Given the description of an element on the screen output the (x, y) to click on. 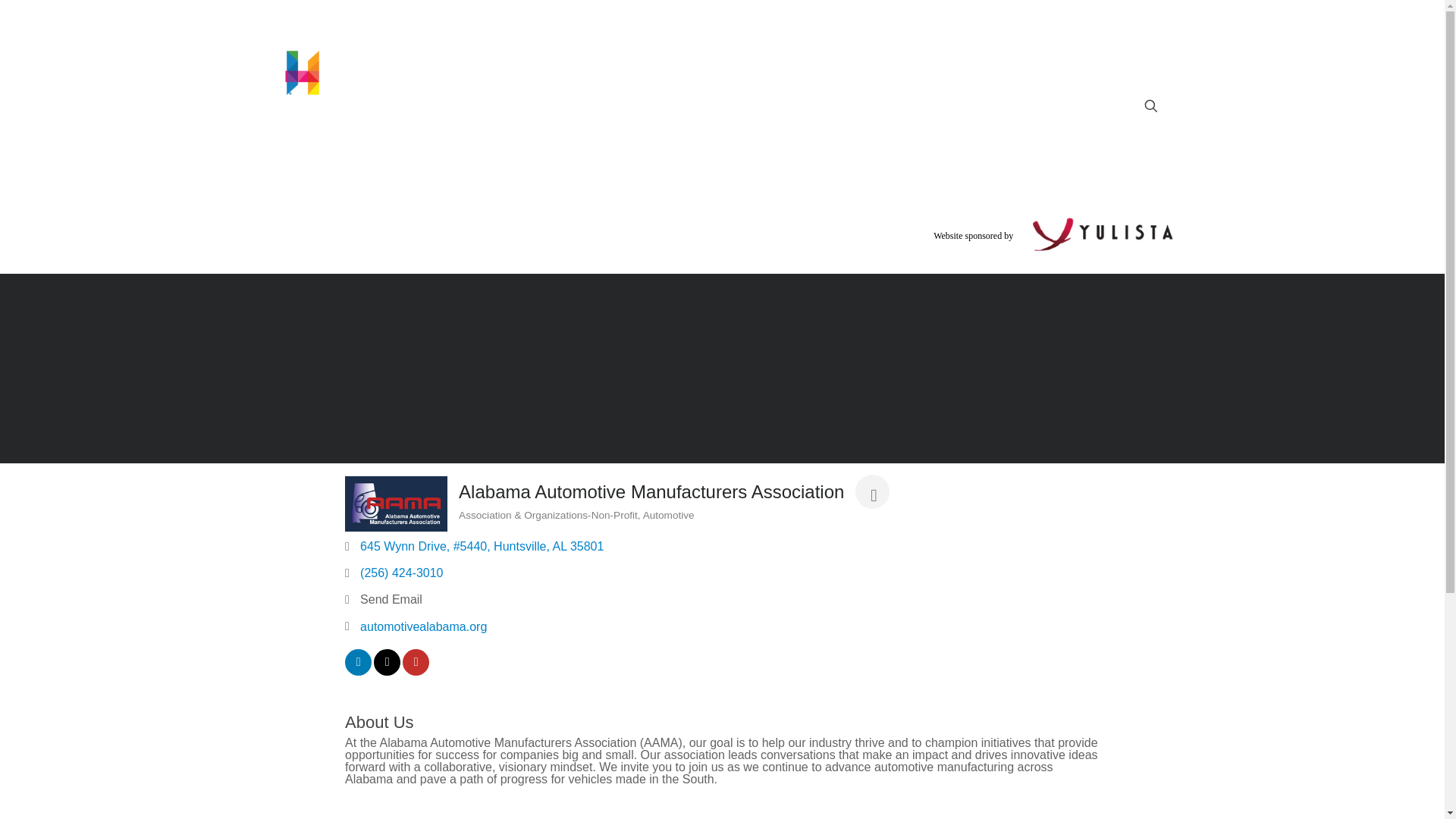
Cummings Research Park (761, 140)
View on LinkedIn (358, 671)
Economic Development (600, 140)
NEW! Small Business Resources (409, 140)
Alabama Automotive Manufacturers Association (395, 502)
View on Twitter (387, 671)
Departments (912, 140)
View on YouTube (416, 671)
